Given the description of an element on the screen output the (x, y) to click on. 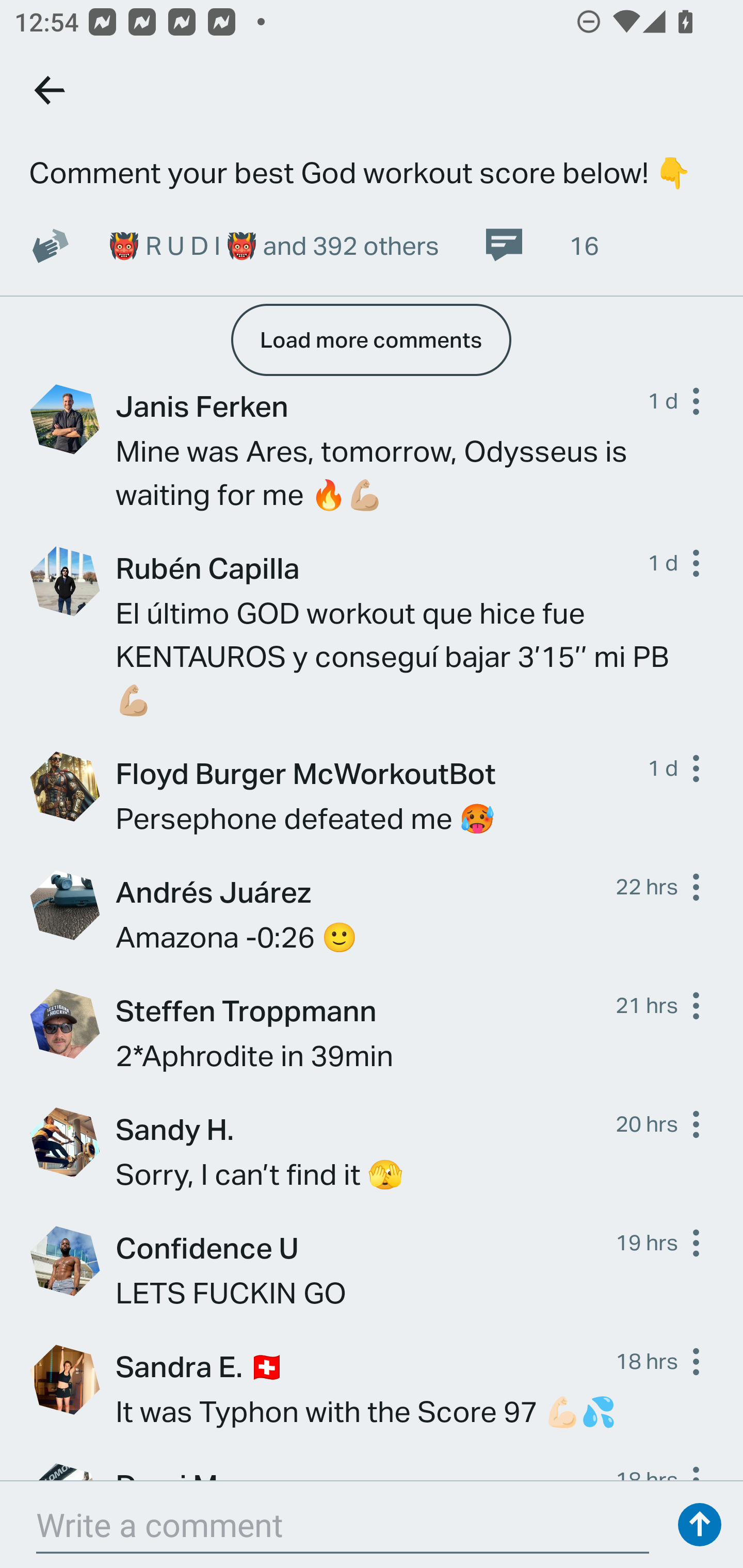
Go back (50, 90)
👹 R U D I 👹 and 392 others (273, 244)
16 (540, 244)
Load more comments (371, 340)
Janis Ferken (381, 405)
Rubén Capilla (381, 567)
Floyd Burger McWorkoutBot (381, 772)
Andrés Juárez (365, 891)
Steffen Troppmann (365, 1010)
Sandy H. (365, 1128)
Confidence U (365, 1247)
Sandra E. 🇨🇭 (365, 1366)
Write a comment (342, 1524)
Send (699, 1524)
